Given the description of an element on the screen output the (x, y) to click on. 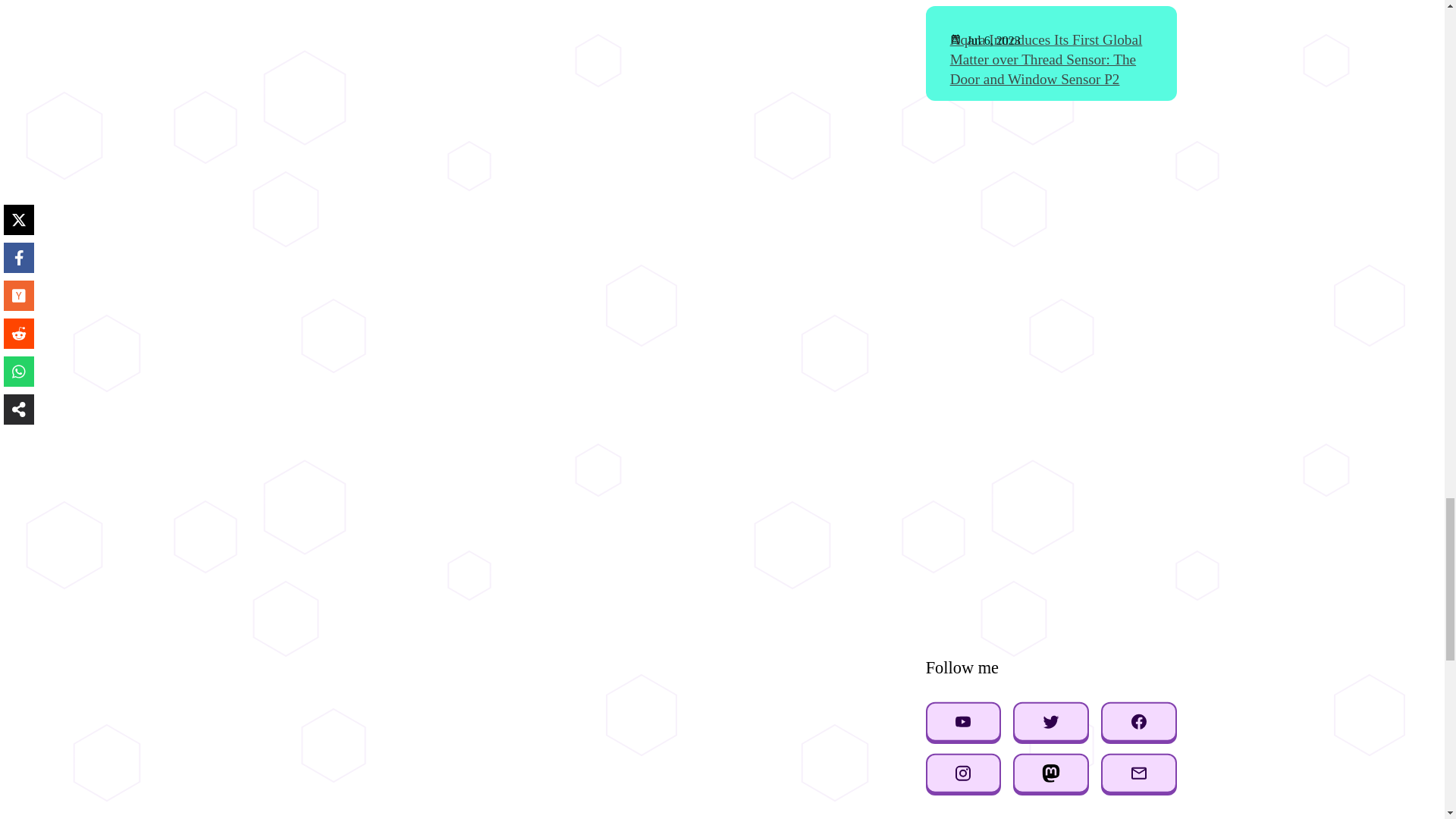
calendar-month-outline (958, 39)
